Given the description of an element on the screen output the (x, y) to click on. 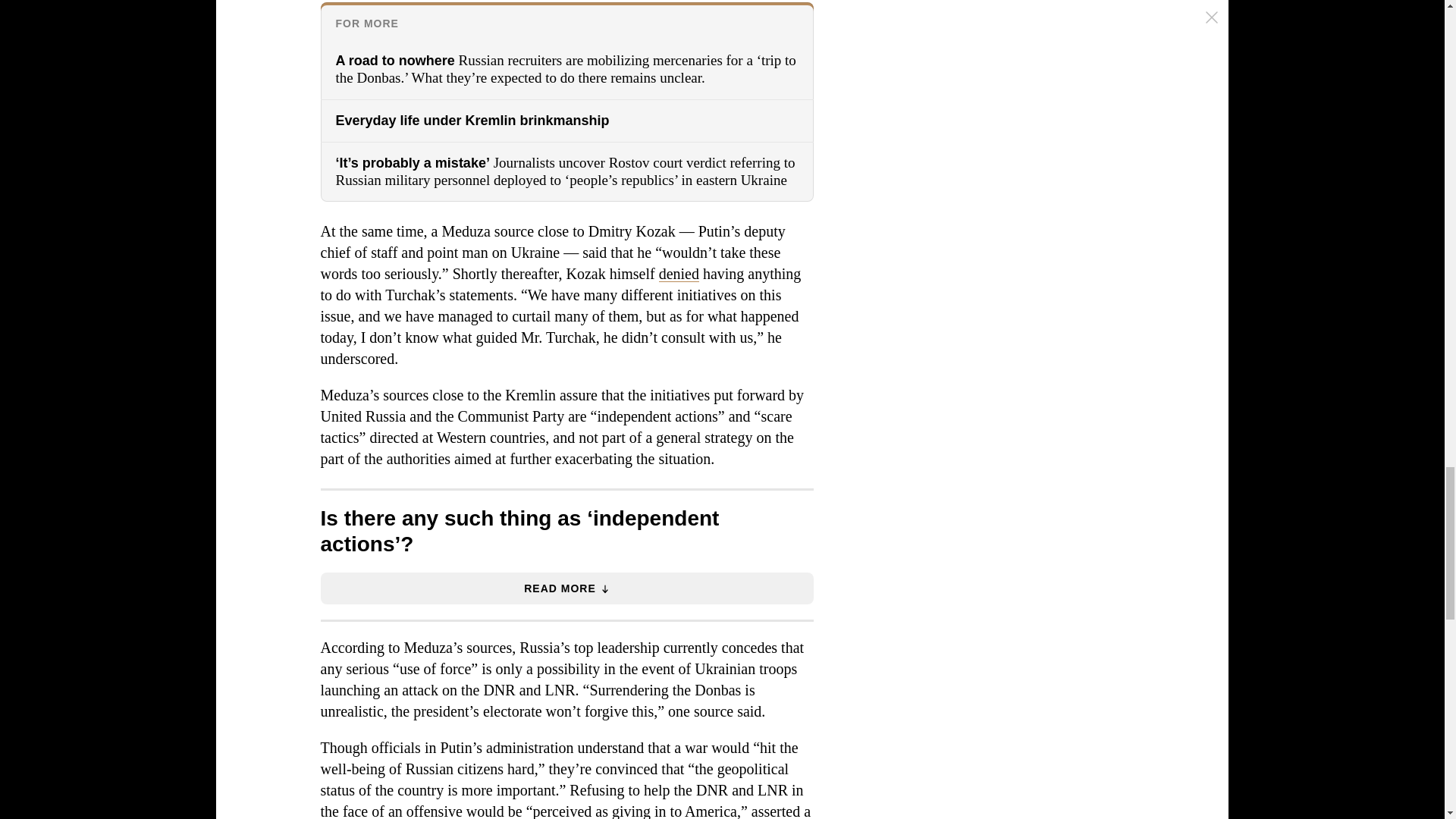
READ MORE (566, 588)
Everyday life under Kremlin brinkmanship (566, 120)
denied (678, 273)
